Given the description of an element on the screen output the (x, y) to click on. 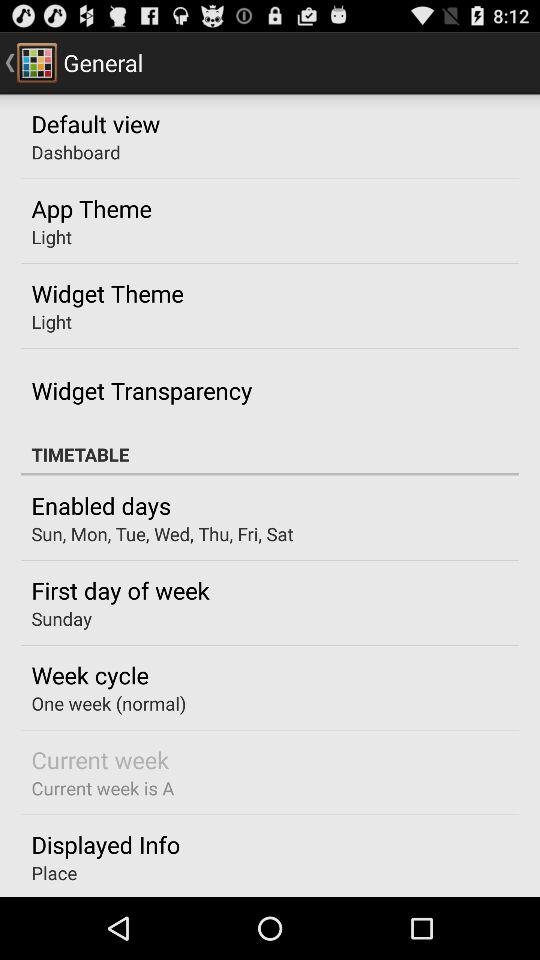
choose app above one week (normal) (89, 675)
